Given the description of an element on the screen output the (x, y) to click on. 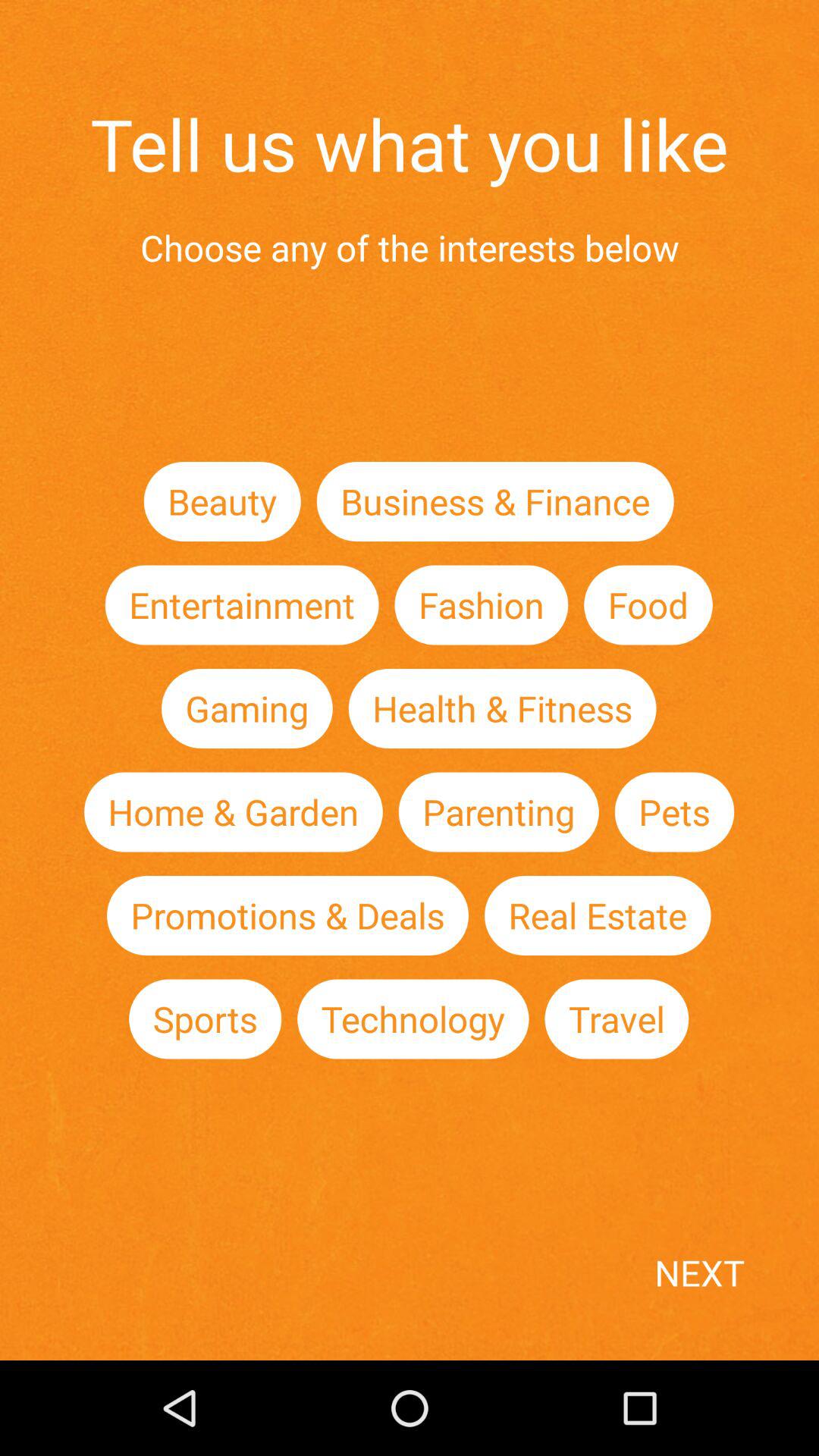
click item next to the travel item (412, 1019)
